Given the description of an element on the screen output the (x, y) to click on. 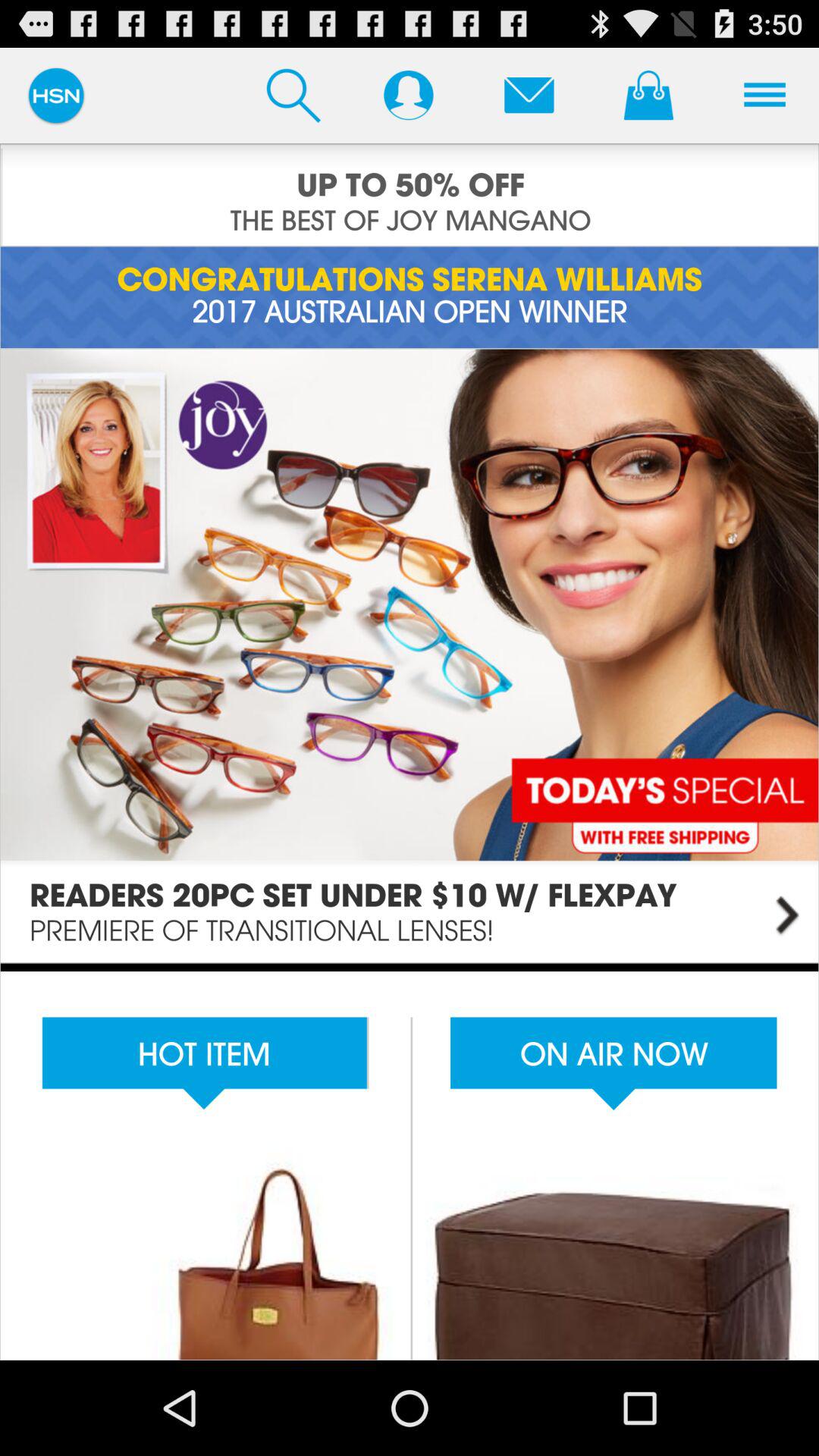
adding advertisement (409, 194)
